Given the description of an element on the screen output the (x, y) to click on. 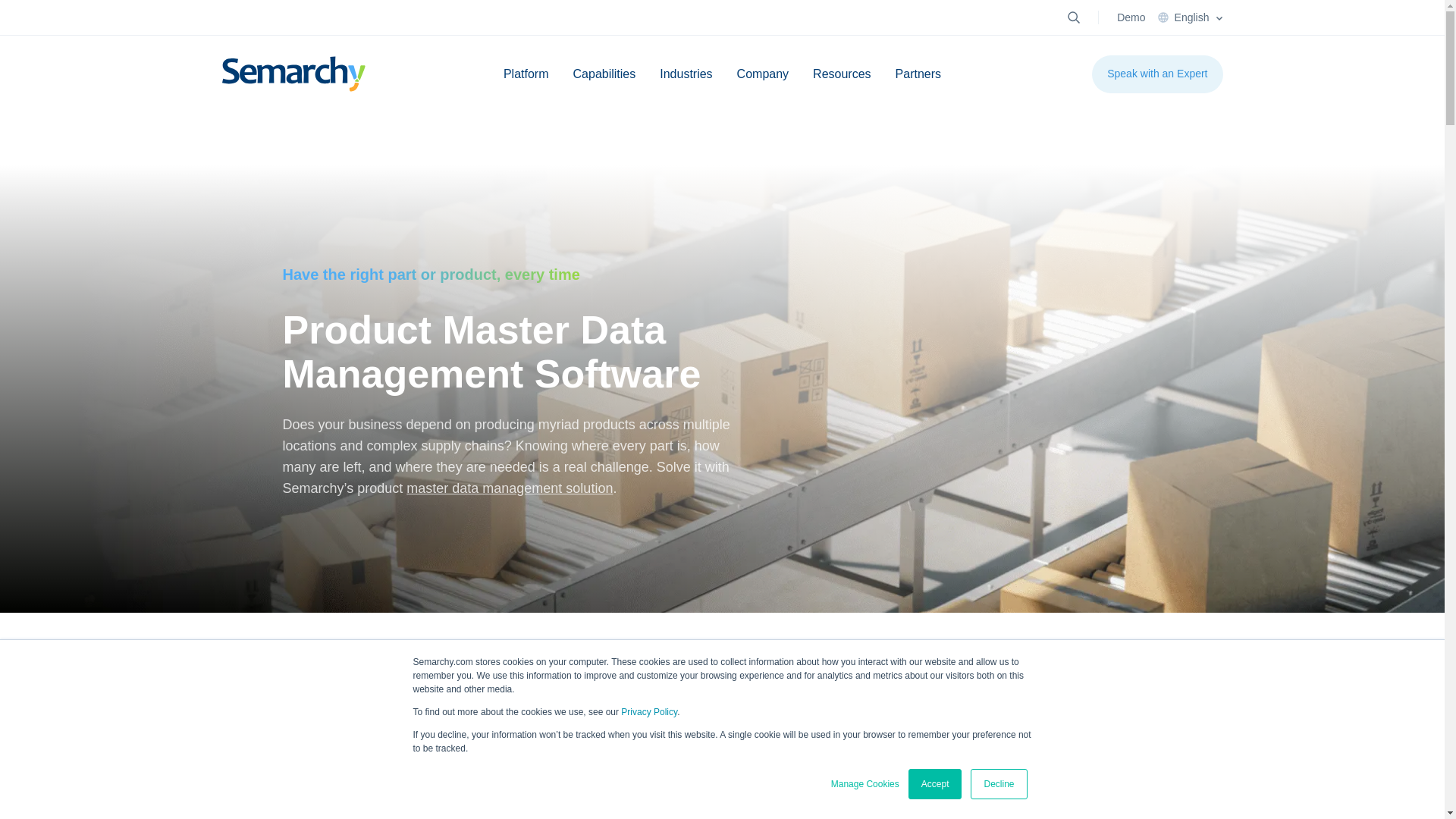
Accept (935, 784)
Platform (526, 73)
Speak with an Expert (1157, 74)
Decline (998, 784)
Demo (1130, 17)
Manage Cookies (865, 784)
Privacy Policy (649, 711)
Capabilities (603, 73)
